Given the description of an element on the screen output the (x, y) to click on. 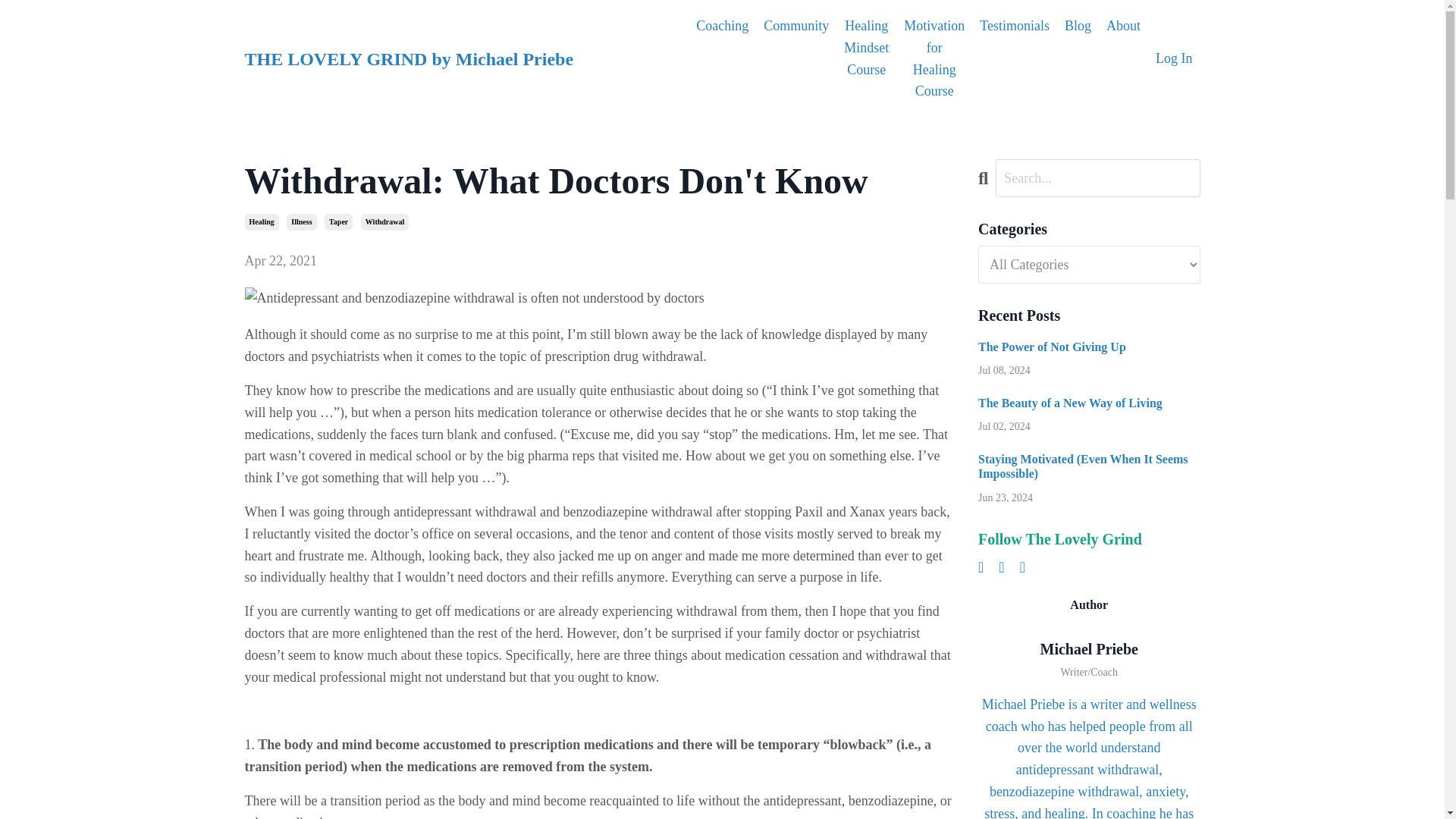
Illness (300, 221)
The Power of Not Giving Up (1088, 346)
THE LOVELY GRIND by Michael Priebe (408, 58)
Log In (1174, 58)
Taper (338, 221)
Healing (261, 221)
Withdrawal (385, 221)
The Beauty of a New Way of Living (1088, 402)
